Given the description of an element on the screen output the (x, y) to click on. 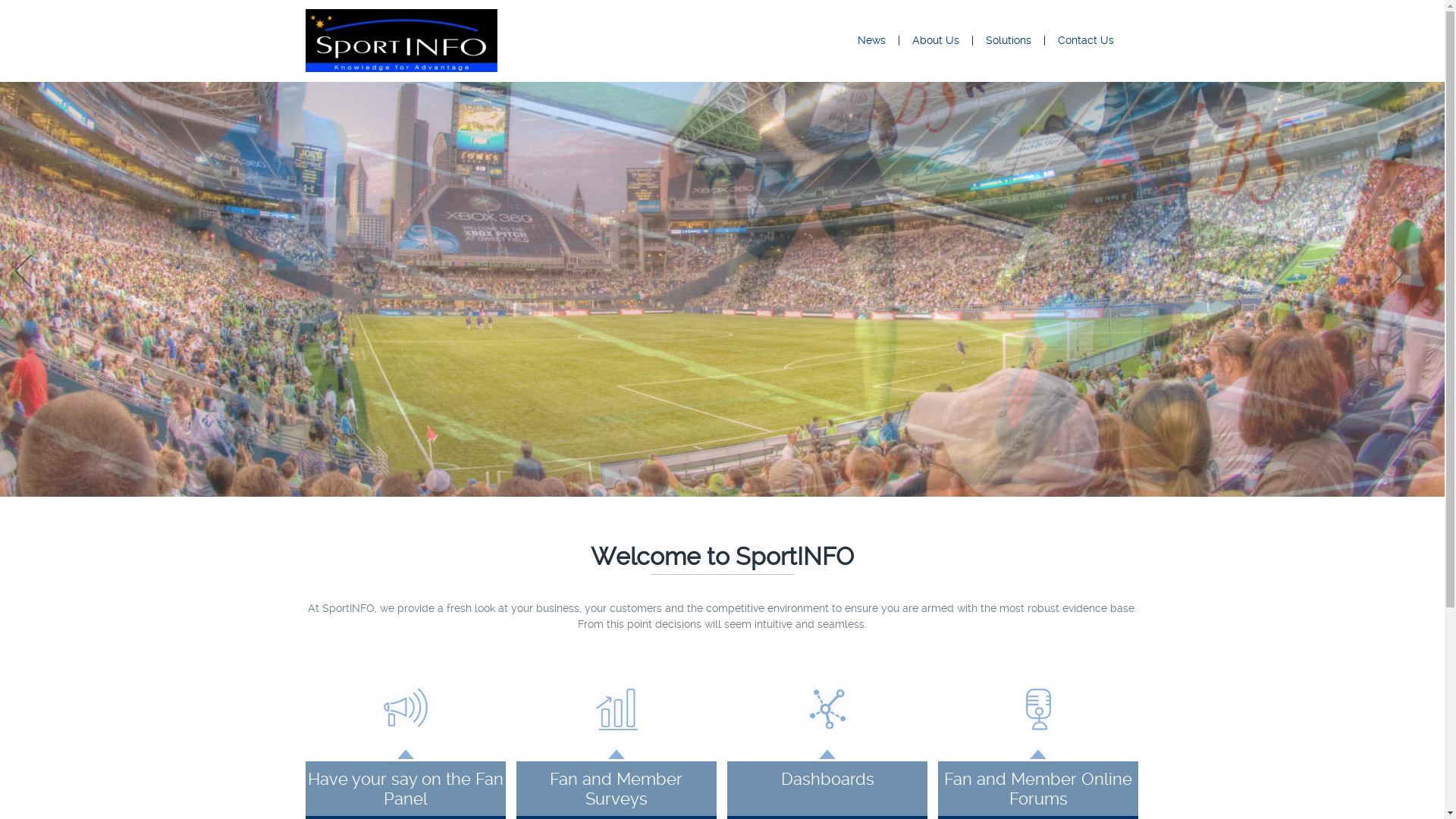
About Us Element type: text (935, 40)
Contact Us Element type: text (1085, 40)
News Element type: text (871, 40)
Solutions Element type: text (1008, 40)
